Given the description of an element on the screen output the (x, y) to click on. 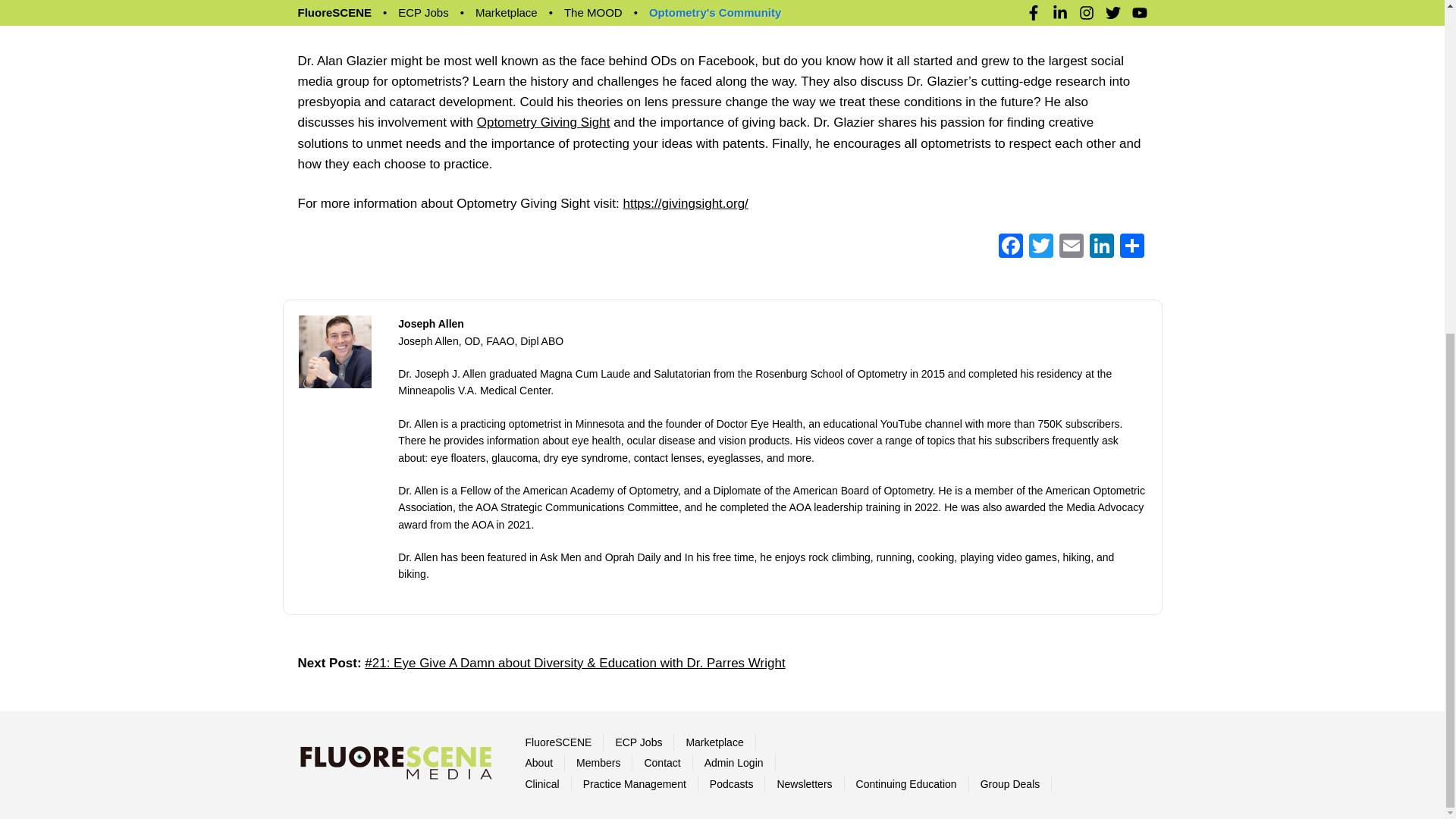
LinkedIn (1101, 247)
Practice Management (634, 784)
Facebook (1009, 247)
LinkedIn (1101, 247)
Podcasts (732, 784)
Admin Login (733, 762)
Email (1070, 247)
Clinical (541, 784)
Members (598, 762)
Share (1131, 247)
Twitter (1040, 247)
ECP Jobs (638, 742)
Optometry Giving Sight (543, 122)
Marketplace (713, 742)
Facebook (1009, 247)
